Given the description of an element on the screen output the (x, y) to click on. 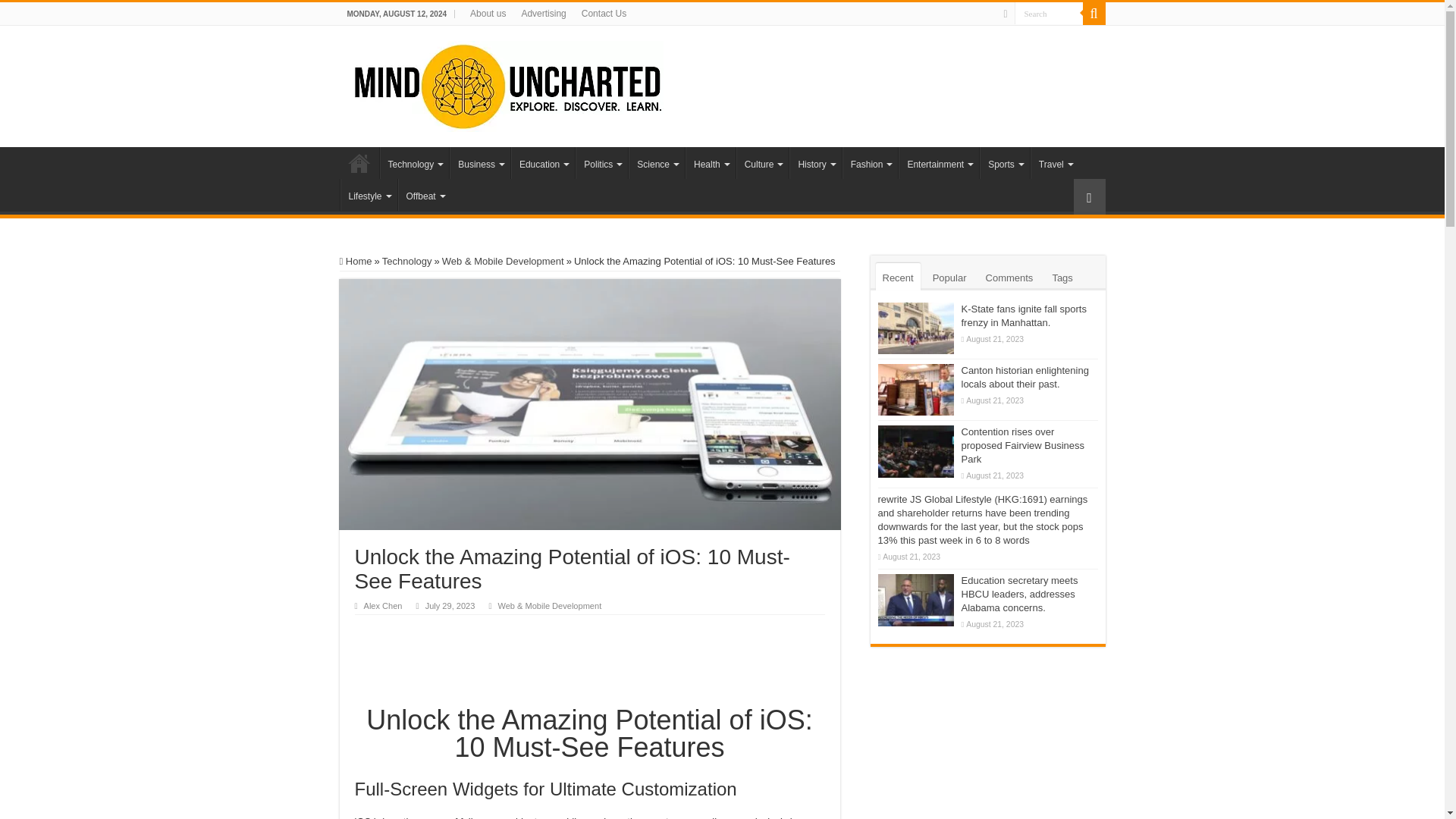
Search (1048, 13)
Search (1048, 13)
Mind Uncharted (506, 83)
Search (1048, 13)
